Given the description of an element on the screen output the (x, y) to click on. 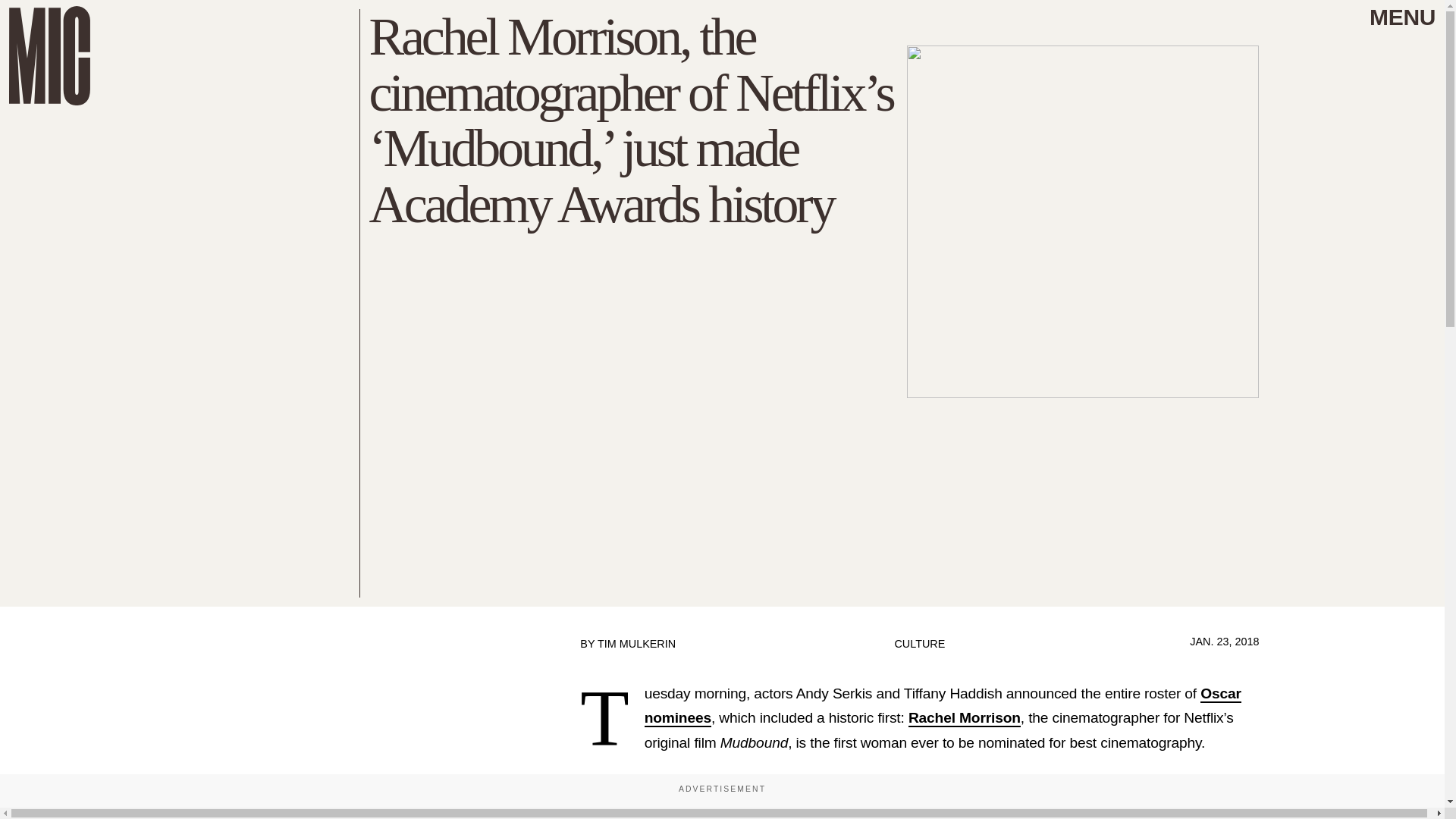
TIM MULKERIN (635, 644)
Rachel Morrison (964, 718)
Oscar nominees (943, 706)
